Given the description of an element on the screen output the (x, y) to click on. 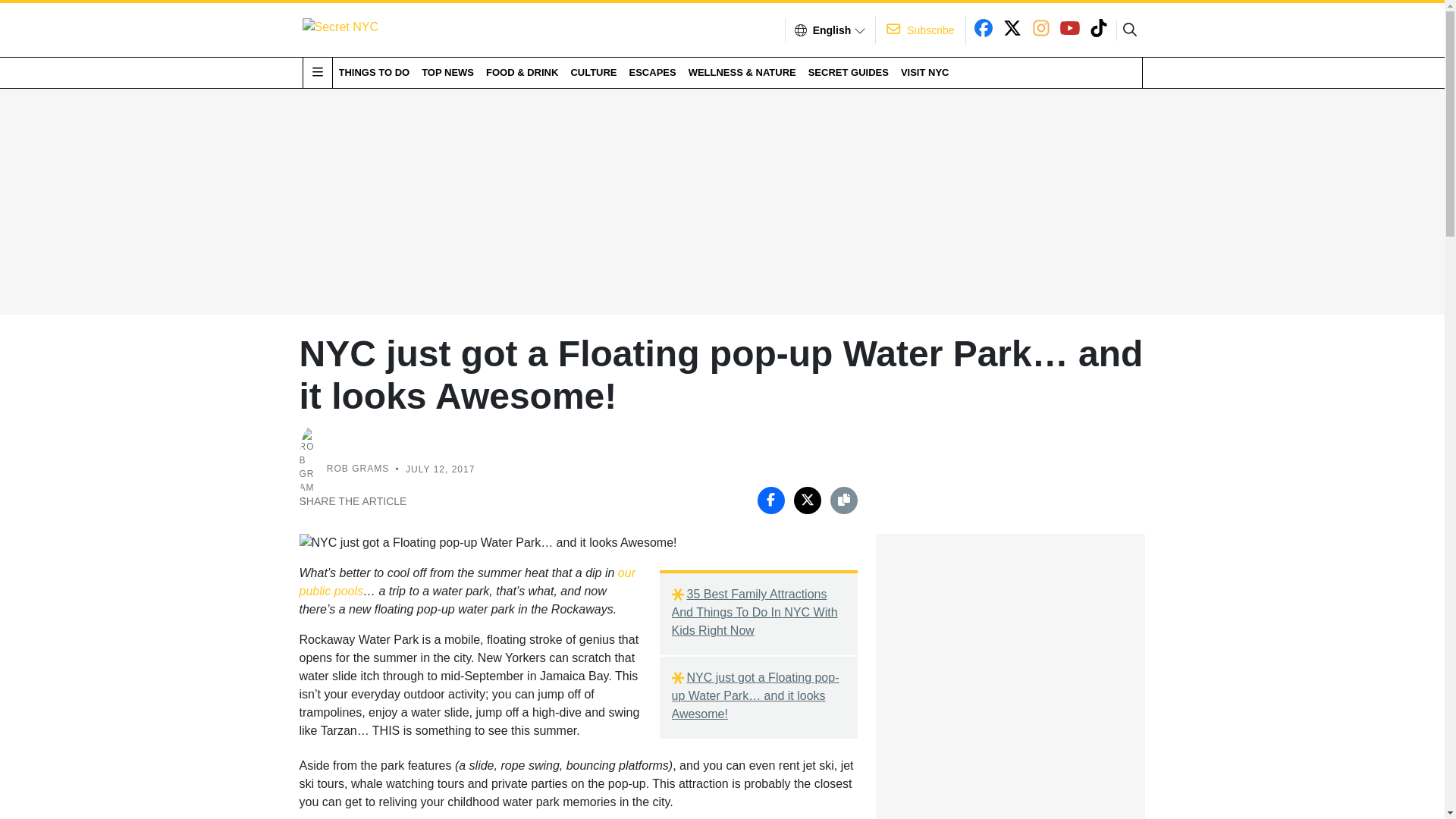
ESCAPES (652, 72)
CULTURE (592, 72)
ROB GRAMS (357, 469)
TOP NEWS (448, 72)
THINGS TO DO (373, 72)
English (831, 29)
SECRET GUIDES (848, 72)
VISIT NYC (925, 72)
our public pools (466, 581)
